Given the description of an element on the screen output the (x, y) to click on. 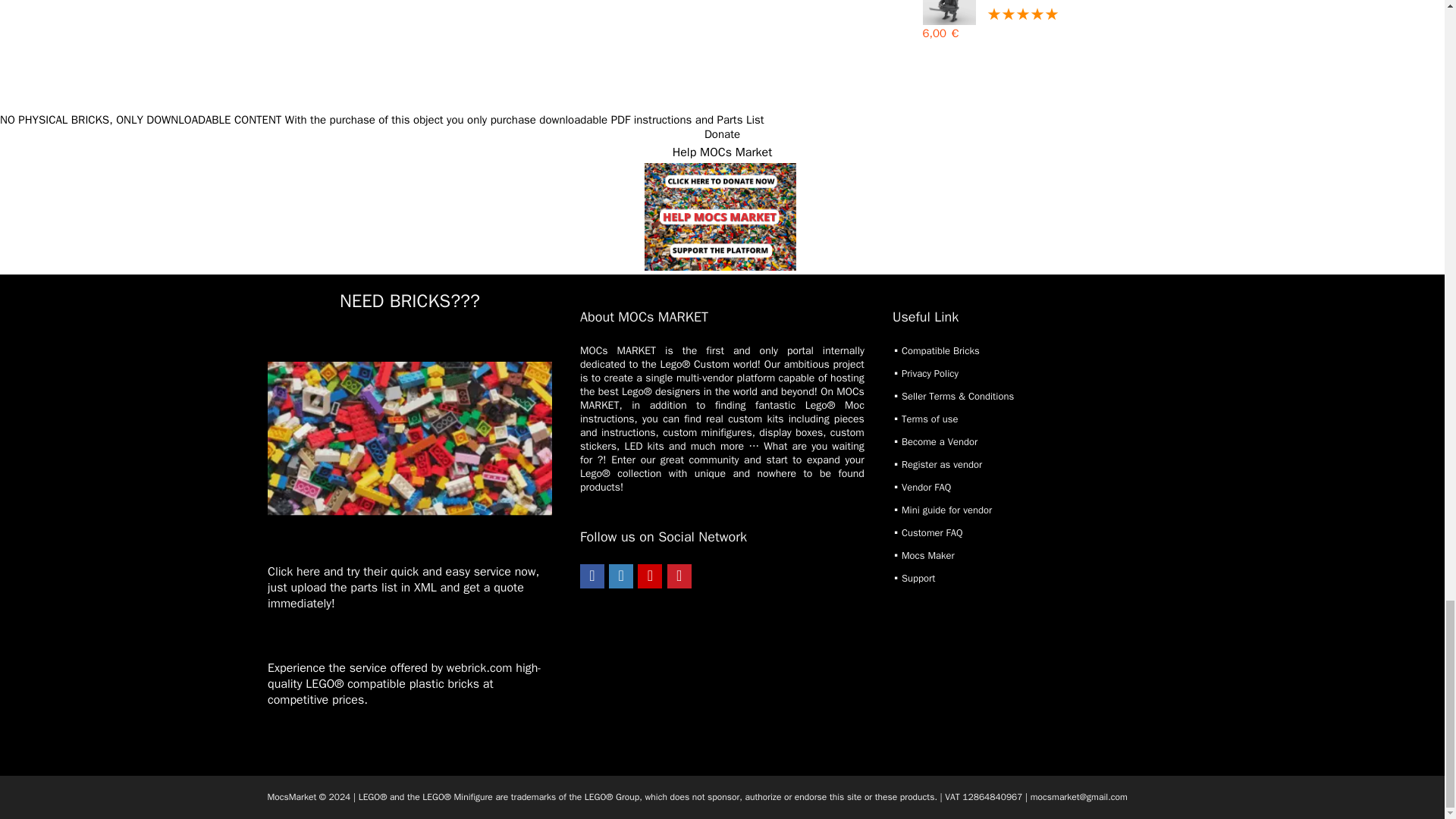
Facebook (591, 576)
Pinterest (678, 576)
Instagramm (620, 576)
Rated 5 out of 5 (1048, 14)
Youtube (649, 576)
